Given the description of an element on the screen output the (x, y) to click on. 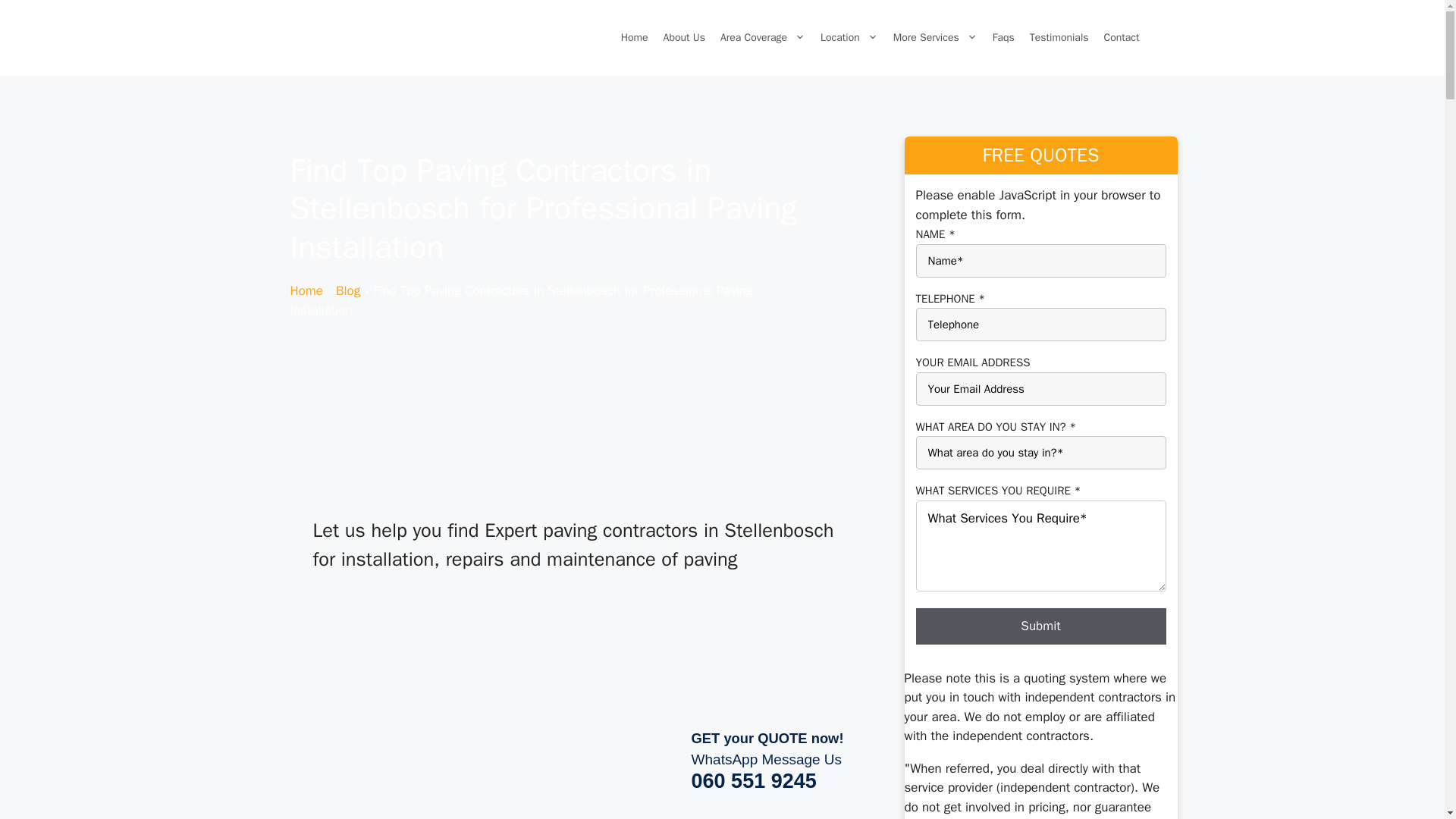
Area Coverage (762, 37)
About Us (684, 37)
Location (848, 37)
Home (634, 37)
More Services (935, 37)
